Given the description of an element on the screen output the (x, y) to click on. 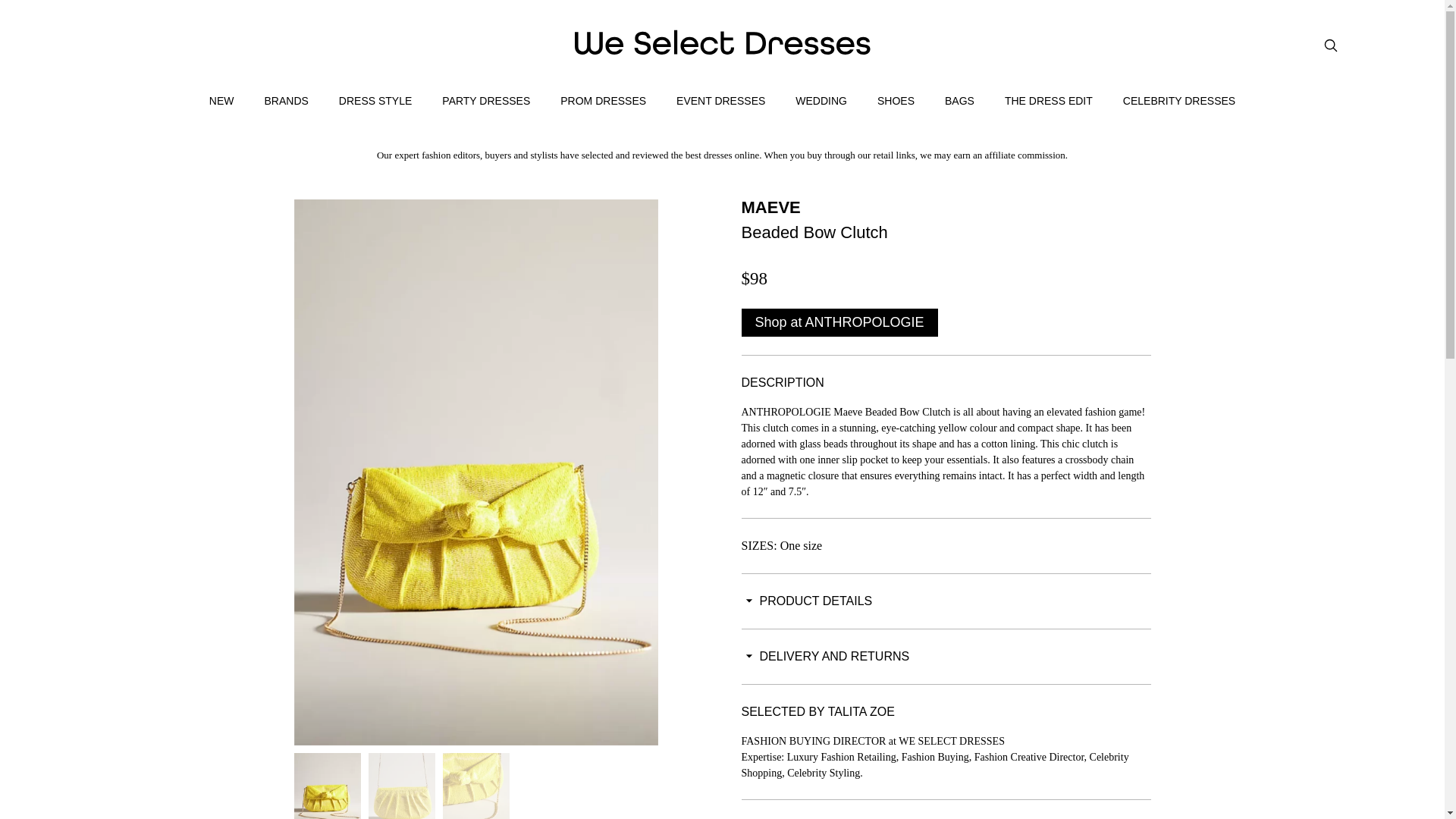
DRESS STYLE (375, 100)
A globally curated edit of the best designer dresses online (722, 42)
NEW (221, 100)
BRANDS (285, 100)
A globally curated edit of the best designer dresses online (722, 50)
PARTY DRESSES (485, 100)
